Given the description of an element on the screen output the (x, y) to click on. 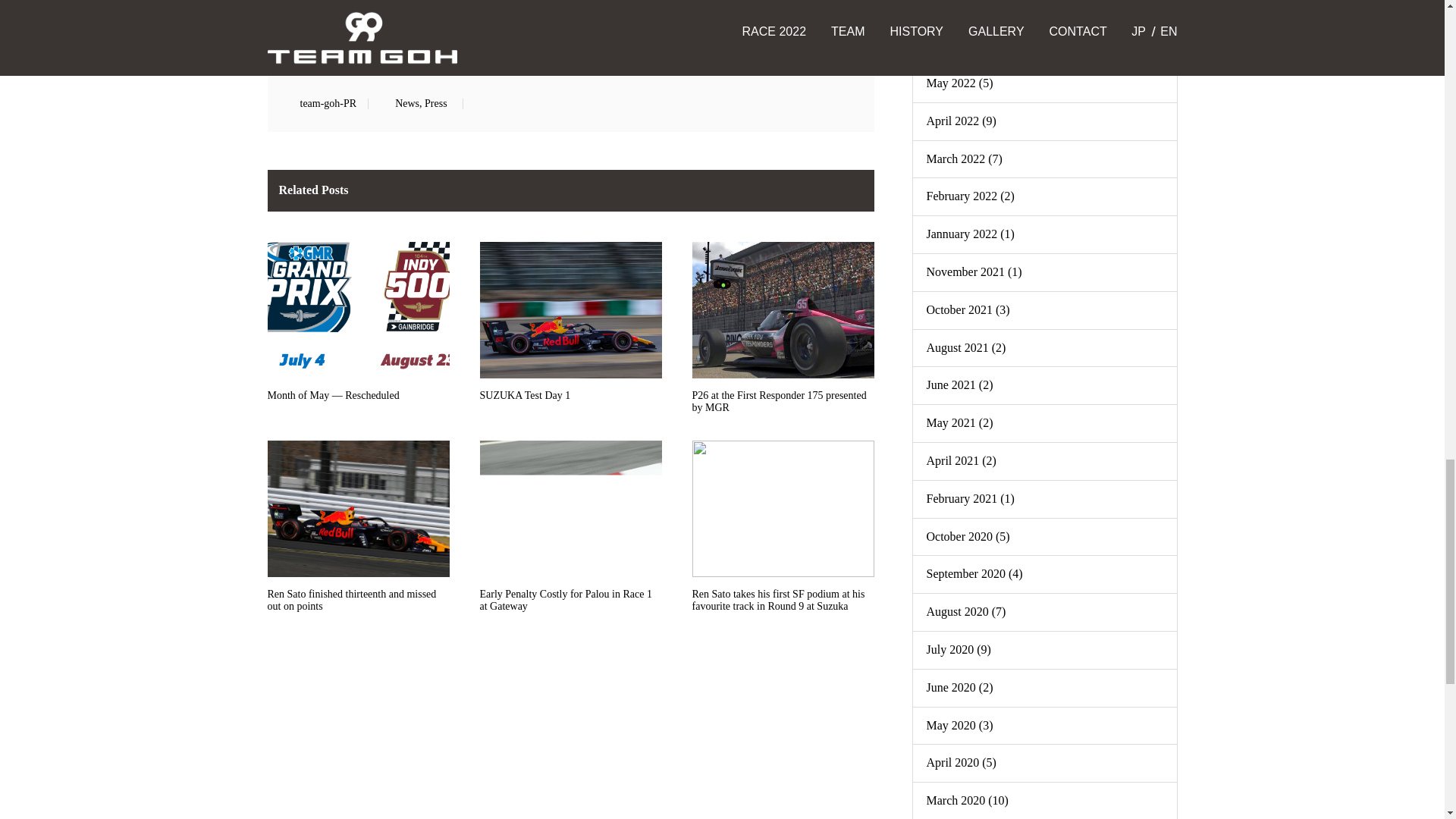
P26 at the First Responder 175 presented by MGR (782, 333)
Early Penalty Costly for Palou in Race 1 at Gateway (570, 532)
Ren Sato finished thirteenth and missed out on points (357, 532)
SUZUKA Test Day 1 (570, 333)
